Given the description of an element on the screen output the (x, y) to click on. 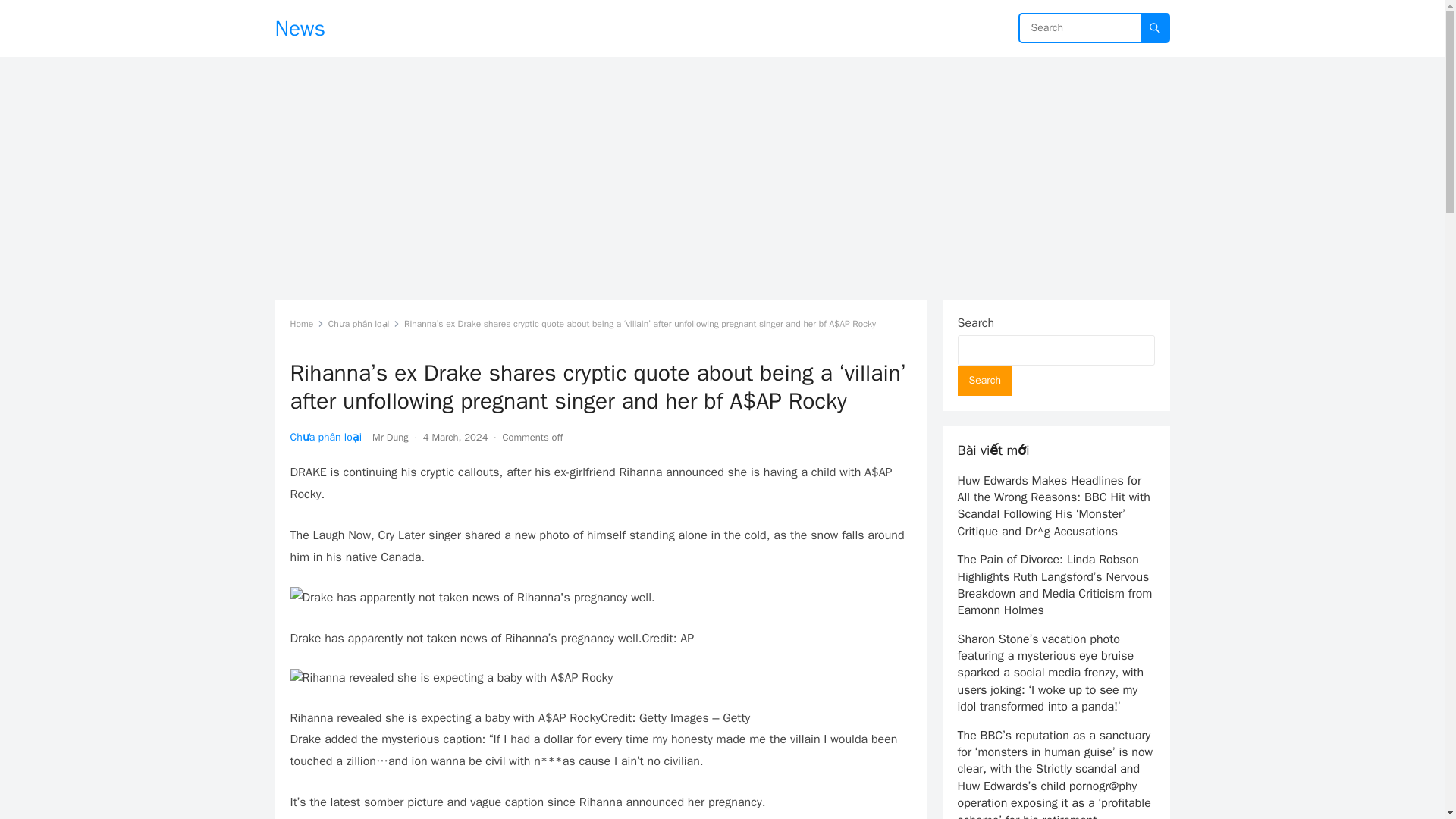
Search (983, 380)
Home (306, 323)
Mr Dung (390, 436)
News (299, 28)
Posts by Mr Dung (390, 436)
